Given the description of an element on the screen output the (x, y) to click on. 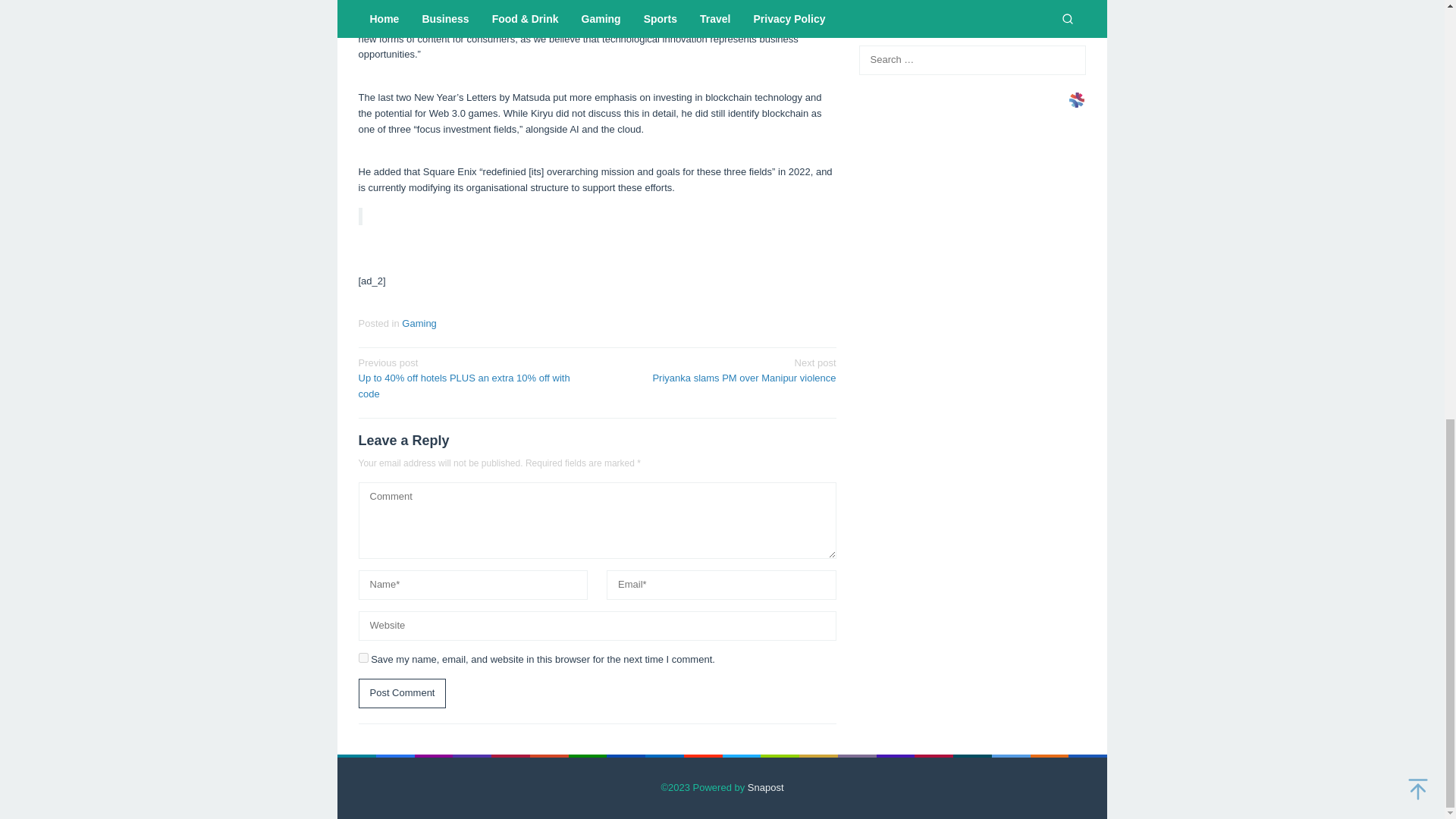
Post Comment (401, 693)
yes (363, 657)
Snapost (766, 787)
Gaming (418, 323)
Post Comment (721, 369)
